Given the description of an element on the screen output the (x, y) to click on. 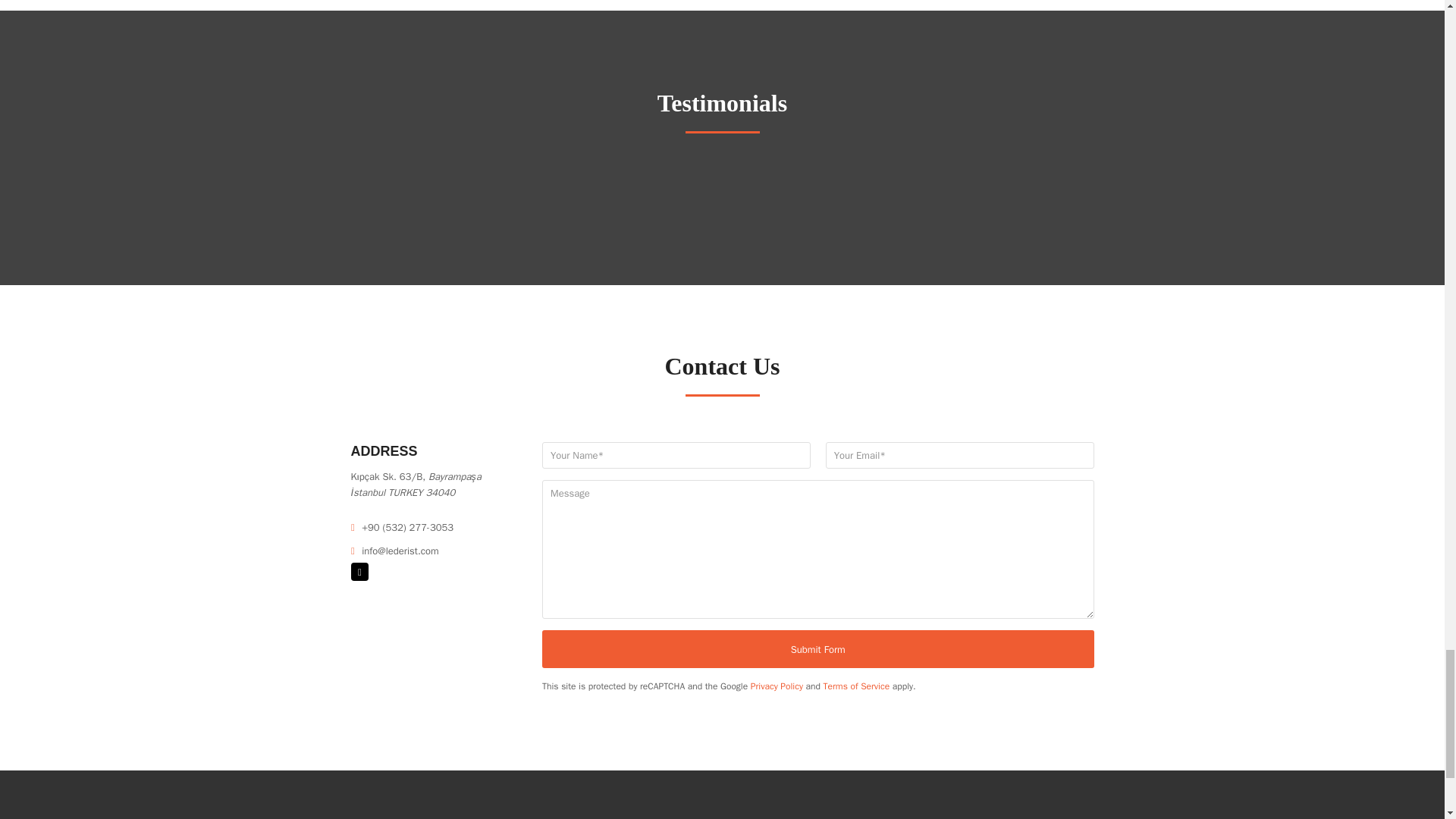
Email (359, 571)
Submit Form (817, 648)
Terms of Service (856, 686)
Email (359, 571)
Privacy Policy (777, 686)
